Given the description of an element on the screen output the (x, y) to click on. 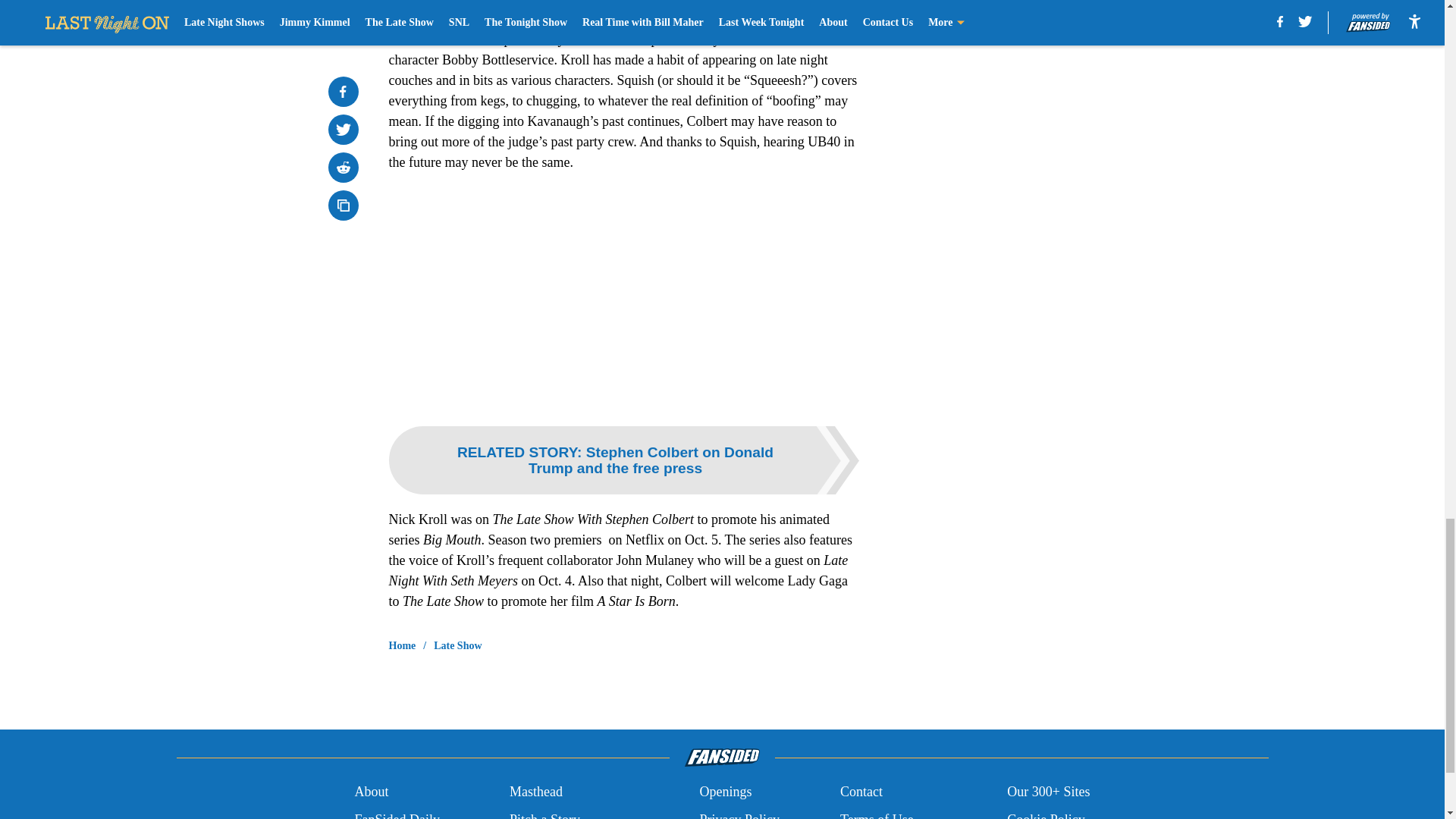
Terms of Use (877, 814)
Home (401, 645)
Contact (861, 792)
Masthead (535, 792)
Late Show (457, 645)
Privacy Policy (738, 814)
About (370, 792)
Openings (724, 792)
Pitch a Story (544, 814)
FanSided Daily (396, 814)
